Given the description of an element on the screen output the (x, y) to click on. 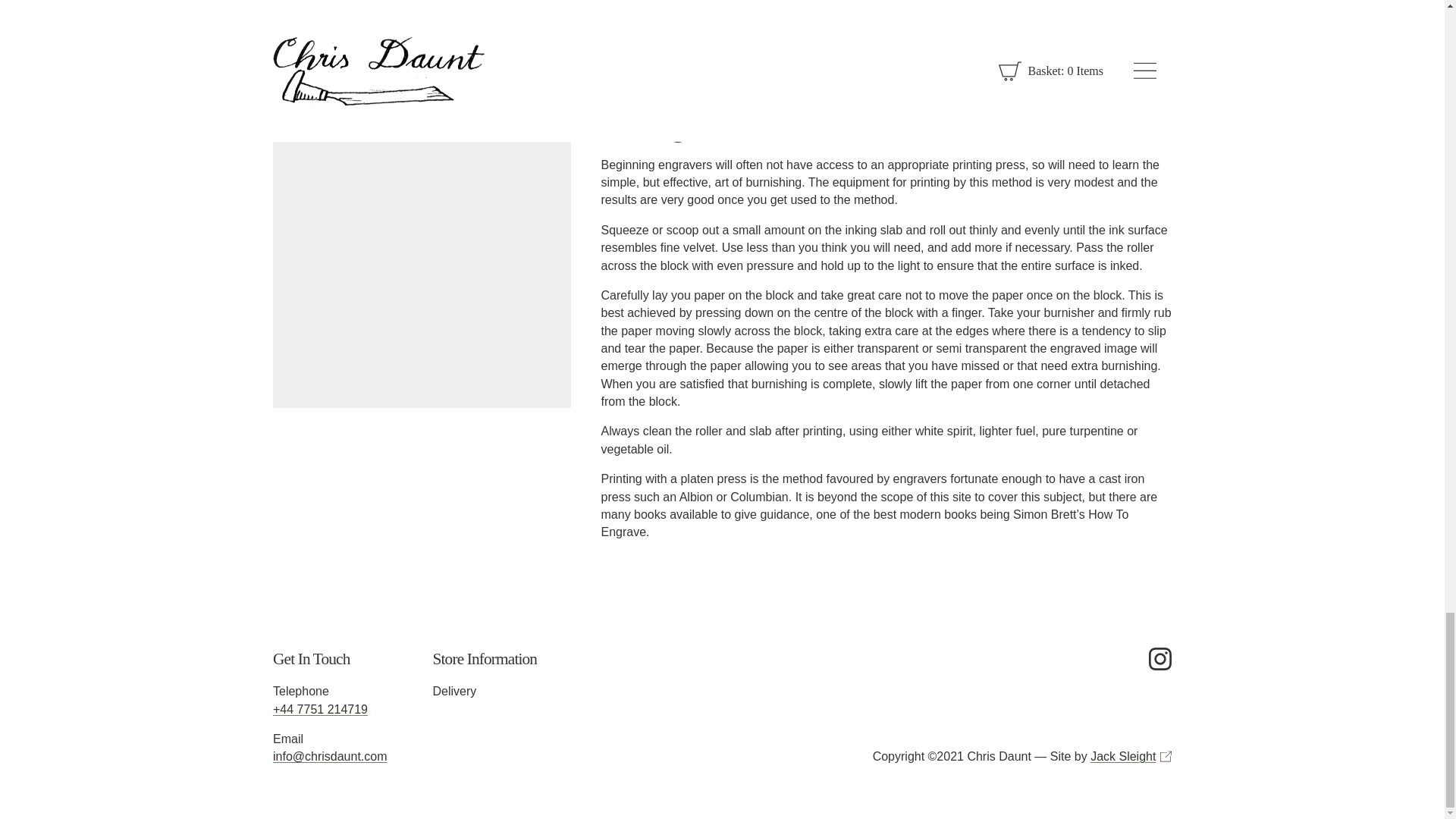
Jack Sleight (1131, 756)
Delivery (484, 691)
